Given the description of an element on the screen output the (x, y) to click on. 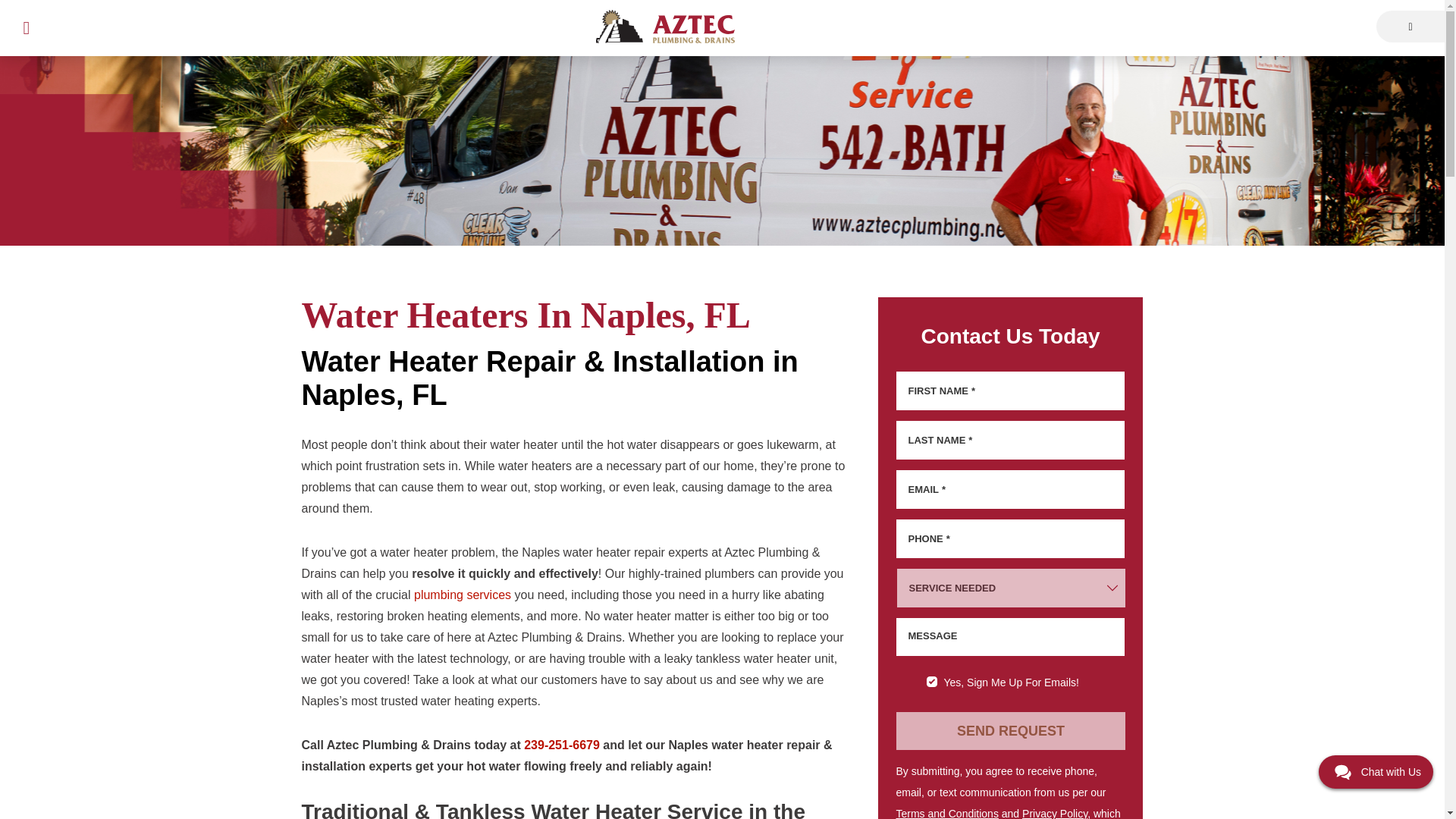
Yes, Sign Me Up For Emails! (931, 681)
